Given the description of an element on the screen output the (x, y) to click on. 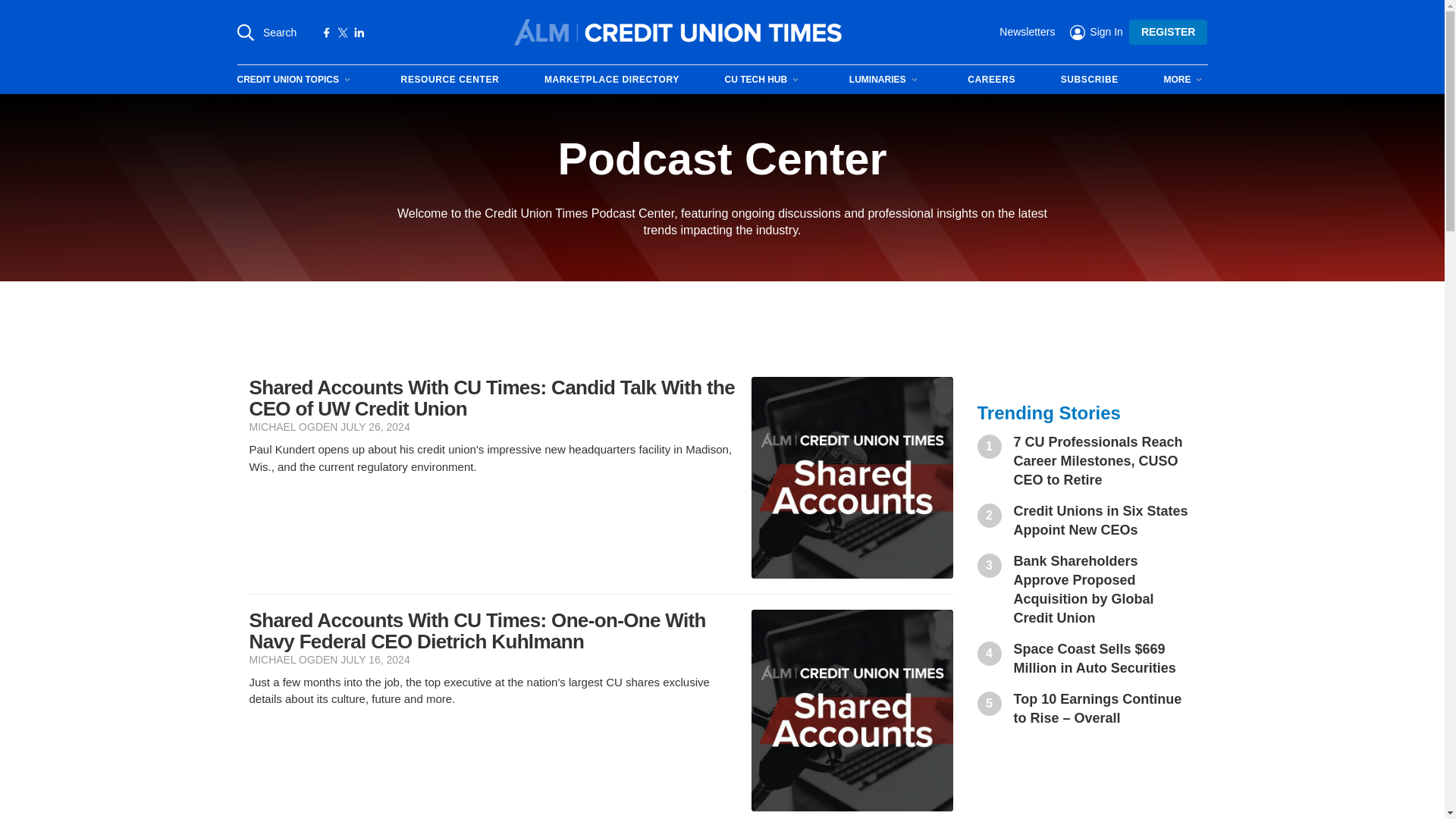
CU TECH HUB (765, 79)
RESOURCE CENTER (450, 79)
Search (266, 31)
MORE (1185, 79)
MARKETPLACE DIRECTORY (611, 79)
CAREERS (991, 79)
REGISTER (1168, 32)
LUMINARIES (885, 79)
Sign In (1096, 31)
SUBSCRIBE (1089, 79)
Newsletters (1027, 32)
